Given the description of an element on the screen output the (x, y) to click on. 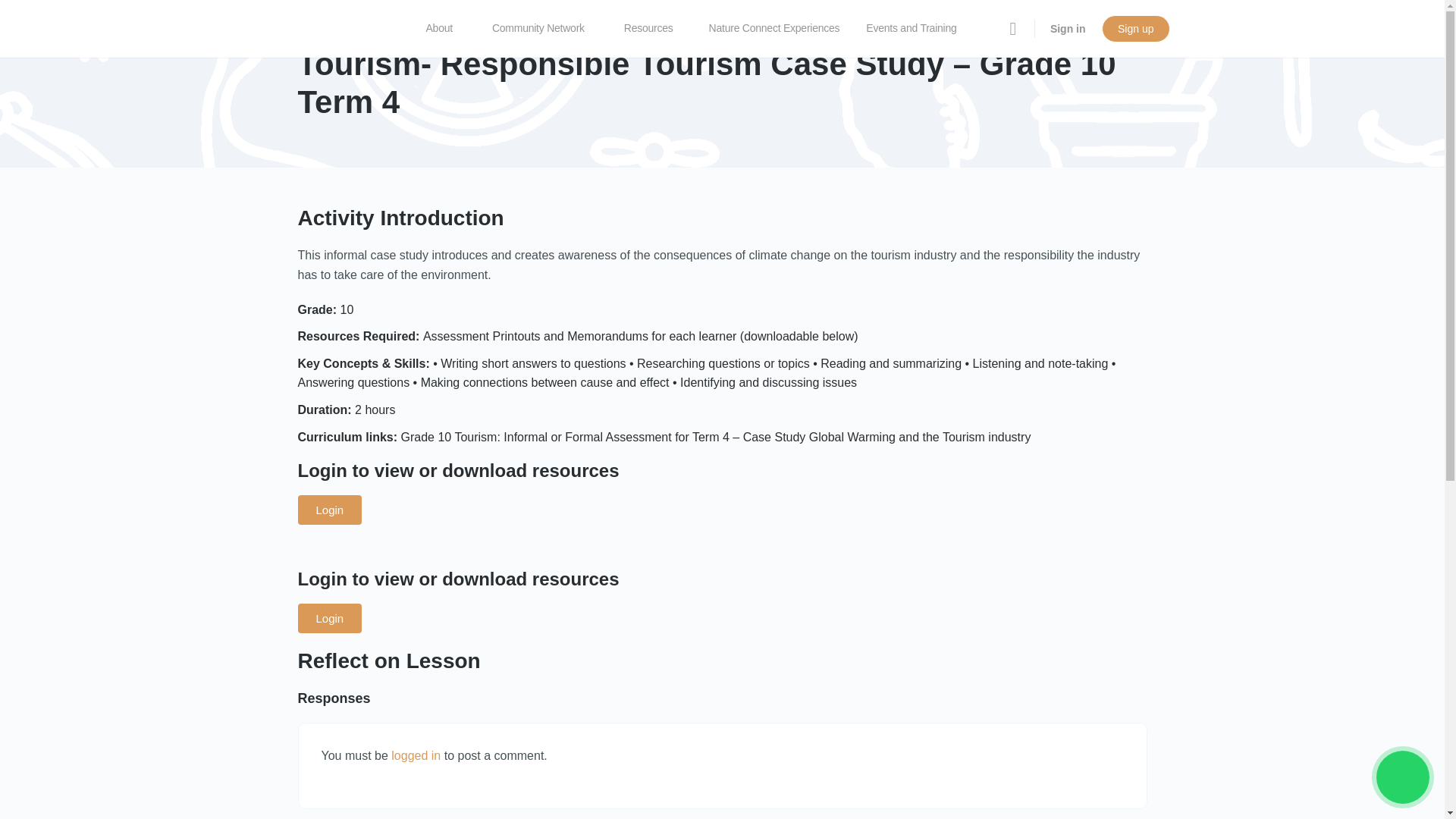
Community Network (544, 28)
Sign up (1135, 28)
Resources (654, 28)
Events and Training (917, 28)
Sign in (1067, 28)
About (446, 28)
Nature Connect Experiences (774, 28)
